Given the description of an element on the screen output the (x, y) to click on. 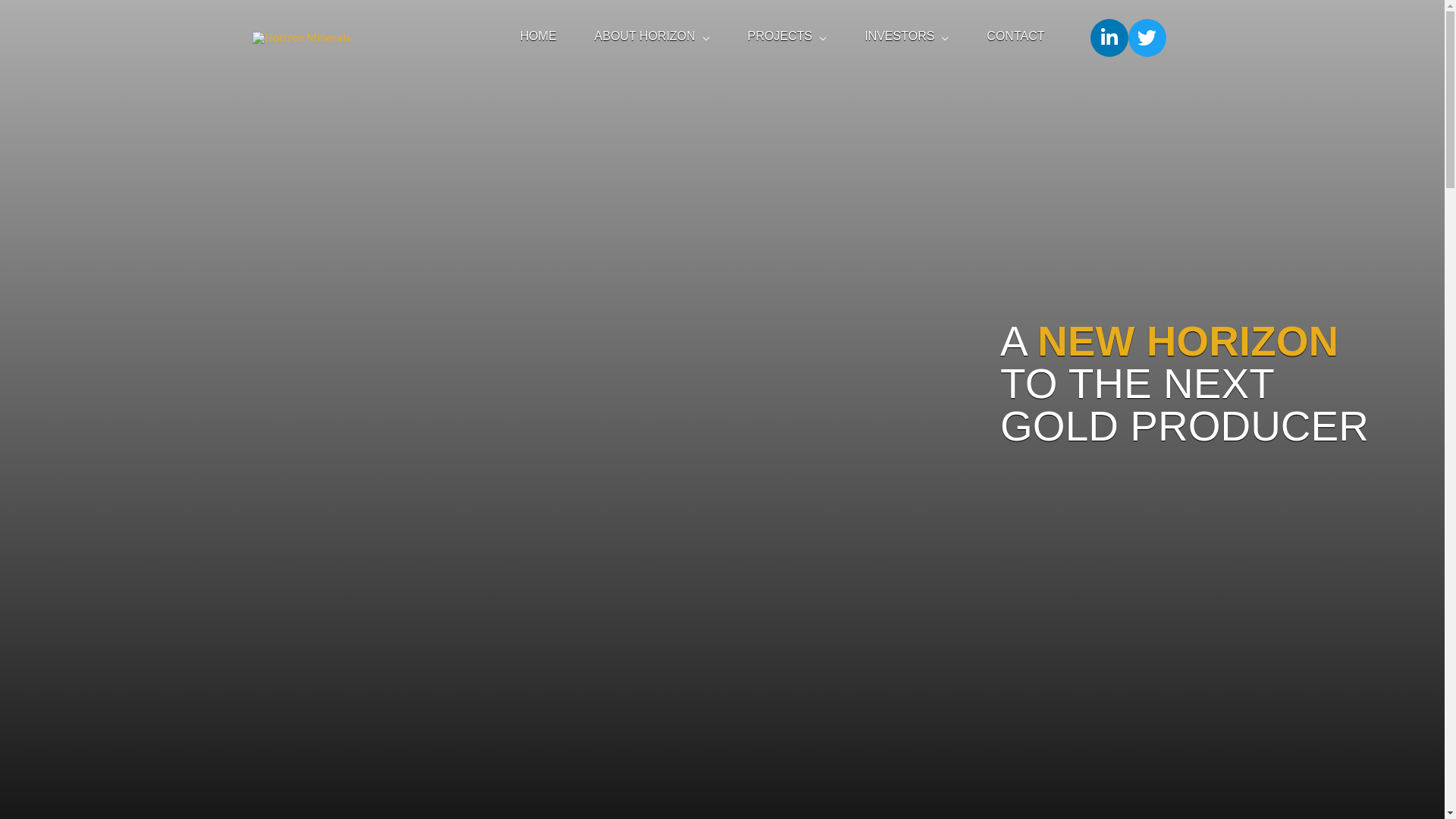
LINKEDIN-IN Element type: text (1109, 37)
HOME Element type: text (538, 37)
PROJECTS Element type: text (786, 37)
TWITTER Element type: text (1147, 37)
ABOUT HORIZON Element type: text (651, 37)
CONTACT Element type: text (1015, 37)
INVESTORS Element type: text (906, 37)
